Given the description of an element on the screen output the (x, y) to click on. 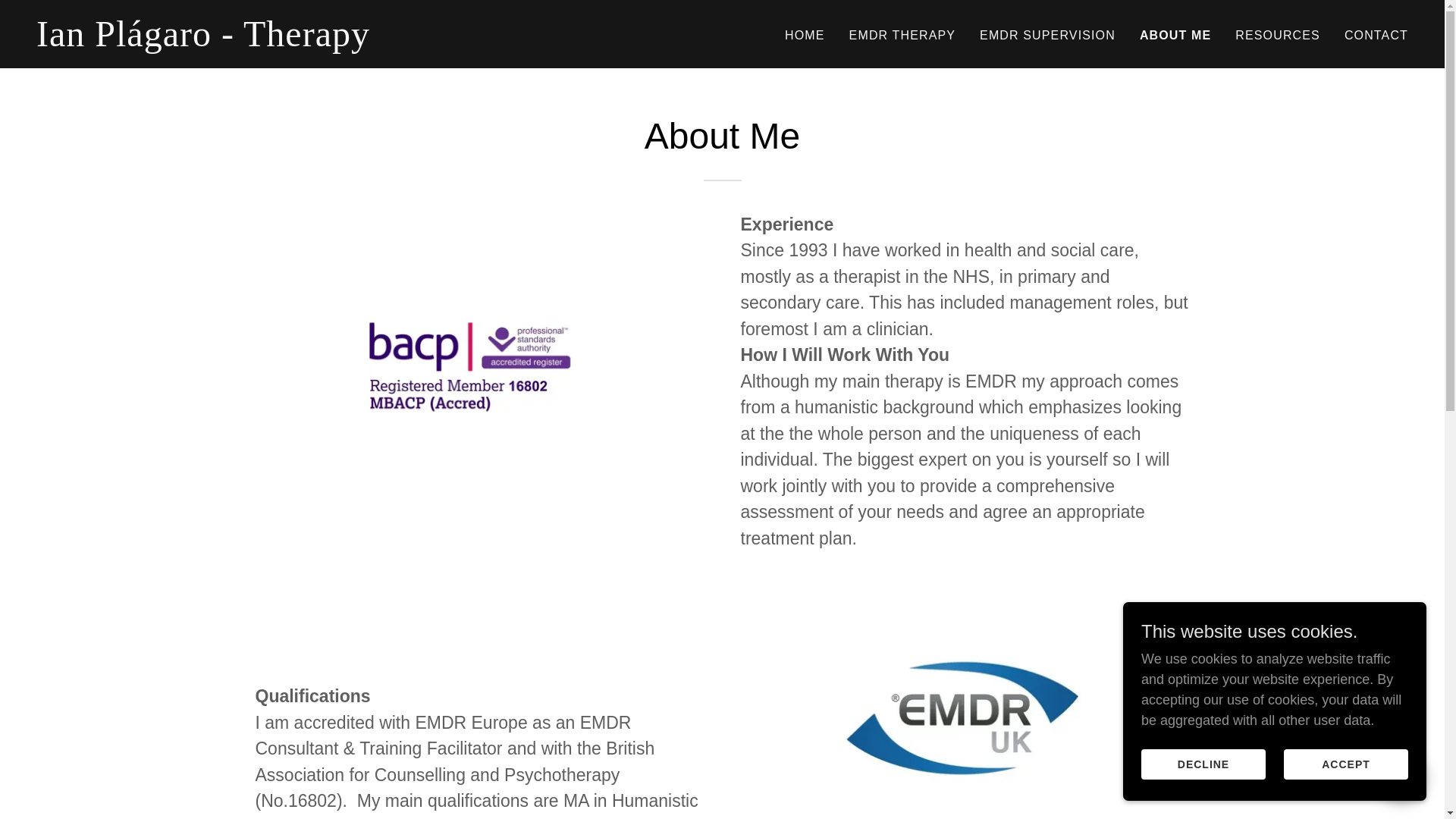
HOME (804, 35)
DECLINE (1203, 764)
EMDR SUPERVISION (1047, 35)
RESOURCES (1277, 35)
ACCEPT (1345, 764)
CONTACT (1375, 35)
ABOUT ME (1175, 35)
EMDR THERAPY (901, 35)
